Given the description of an element on the screen output the (x, y) to click on. 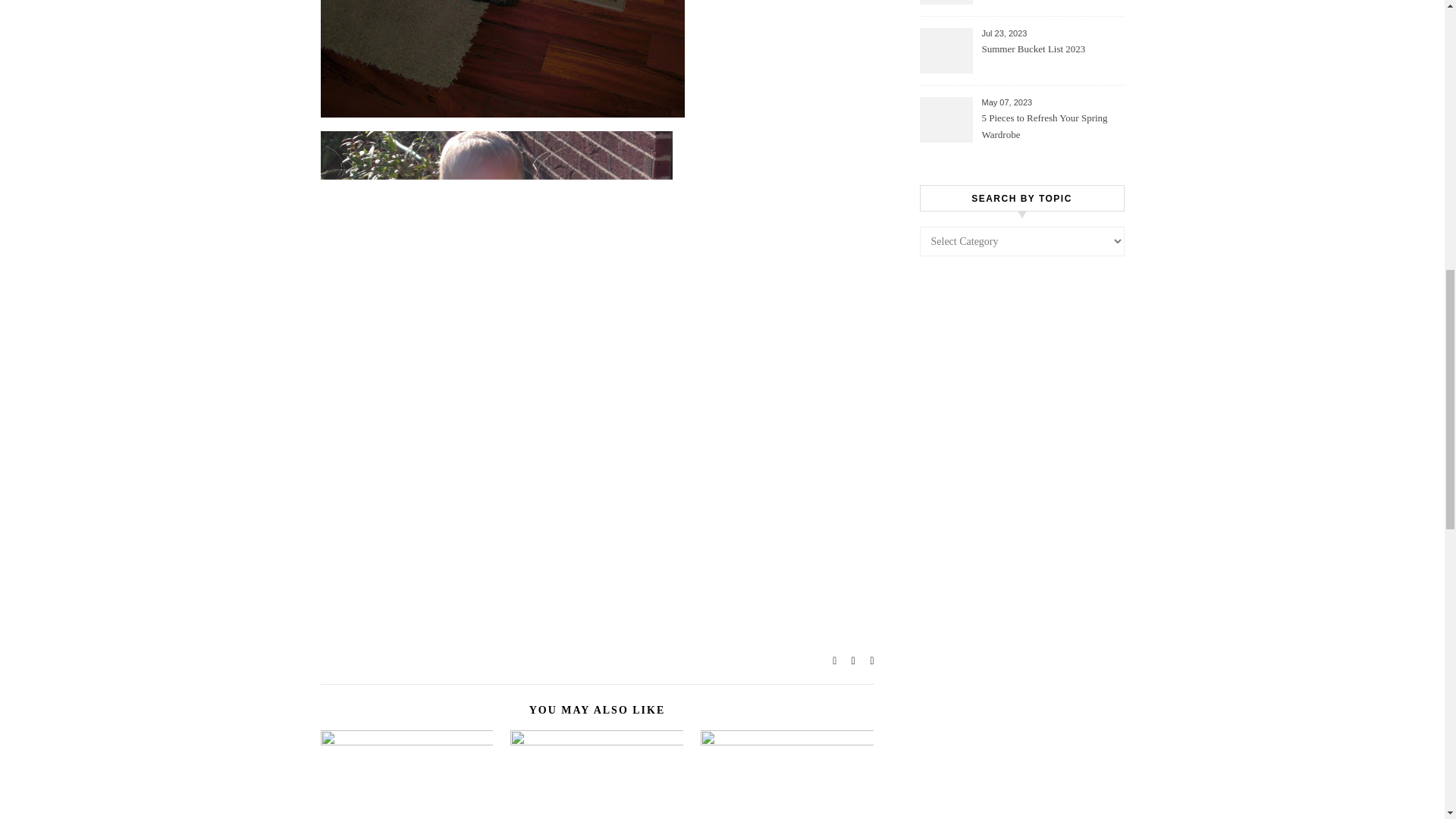
My Favorite Reads of 2023 (1051, 3)
Summer Bucket List 2023 (1051, 58)
5 Pieces to Refresh Your Spring Wardrobe (1051, 126)
